Given the description of an element on the screen output the (x, y) to click on. 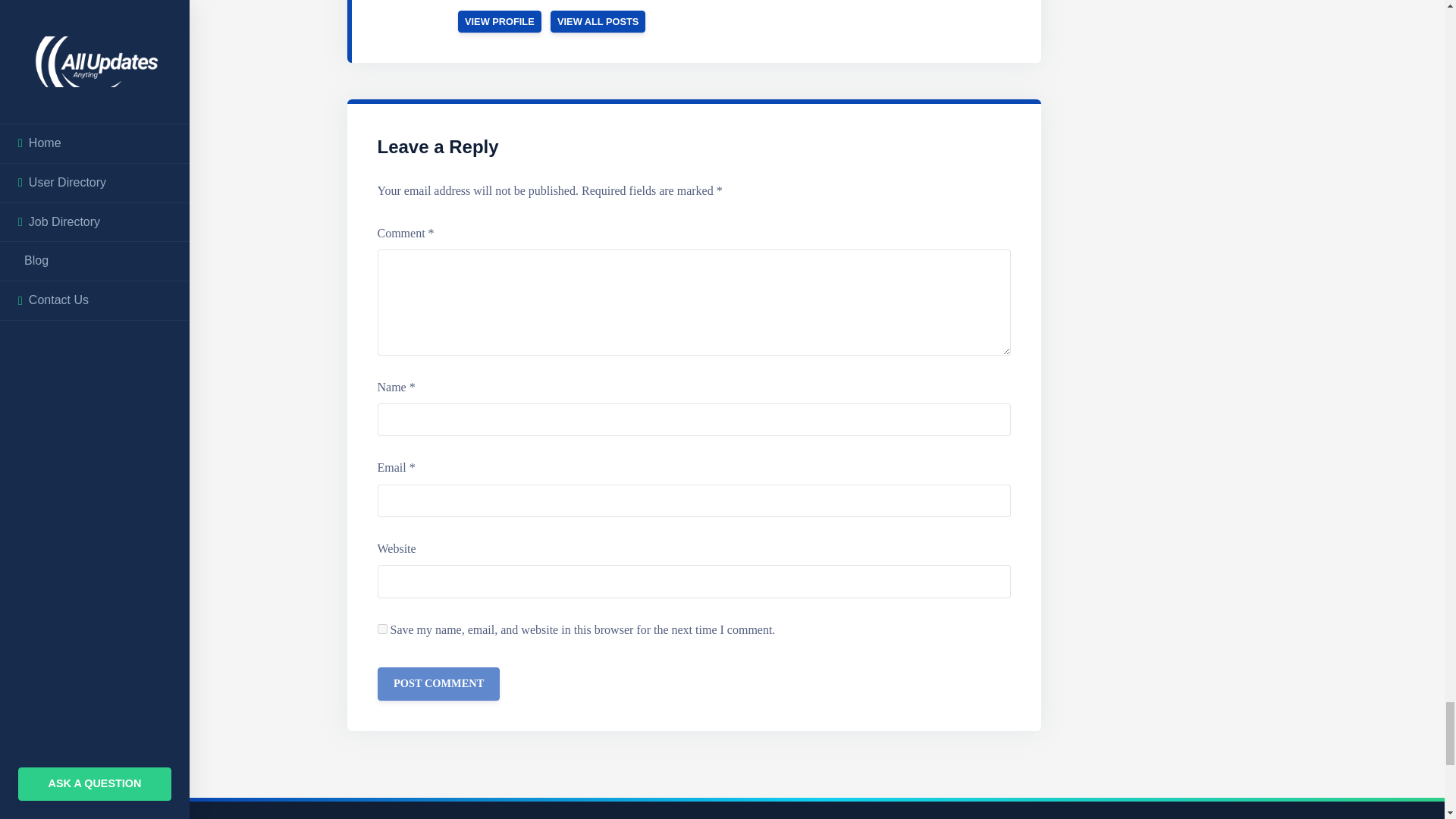
VIEW PROFILE (499, 21)
yes (382, 628)
Post Comment (438, 684)
VIEW ALL POSTS (597, 21)
Post Comment (438, 684)
